Given the description of an element on the screen output the (x, y) to click on. 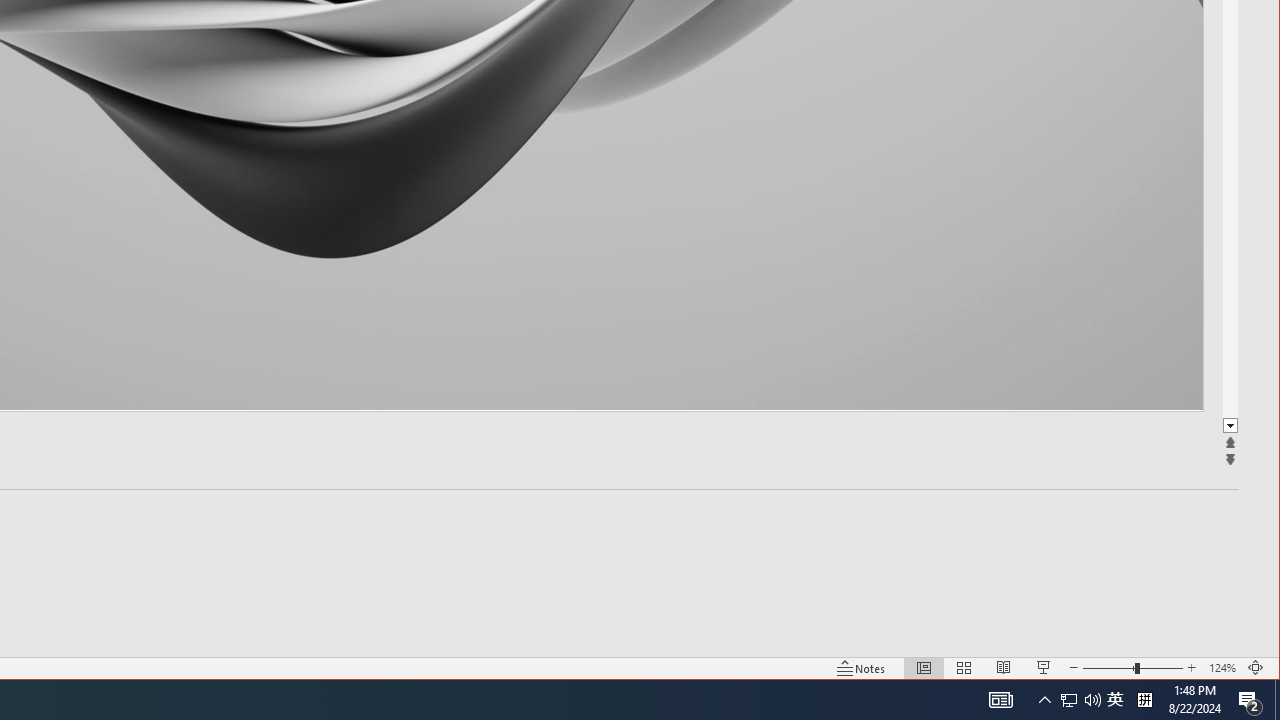
Zoom to Fit  (1256, 668)
Zoom In (1191, 668)
Q2790: 100% (1092, 699)
Show desktop (1277, 699)
Tray Input Indicator - Chinese (Simplified, China) (1144, 699)
Reading View (1004, 668)
Notes  (861, 668)
Normal (923, 668)
Zoom 124% (1222, 668)
Zoom Out (1108, 668)
Slide Sorter (964, 668)
Notification Chevron (1044, 699)
